Given the description of an element on the screen output the (x, y) to click on. 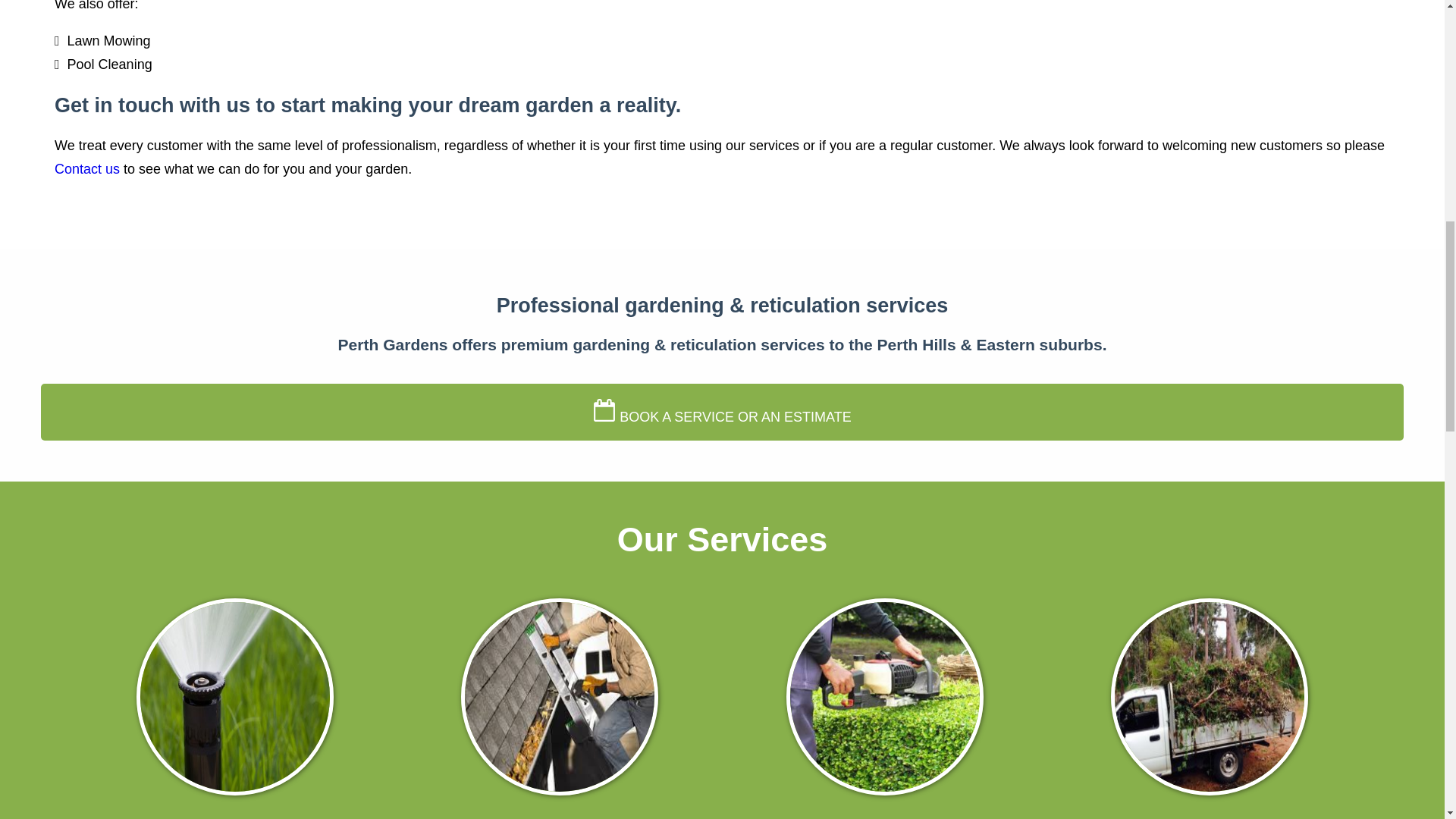
Contact us (87, 168)
BOOK A SERVICE OR AN ESTIMATE (721, 412)
